Given the description of an element on the screen output the (x, y) to click on. 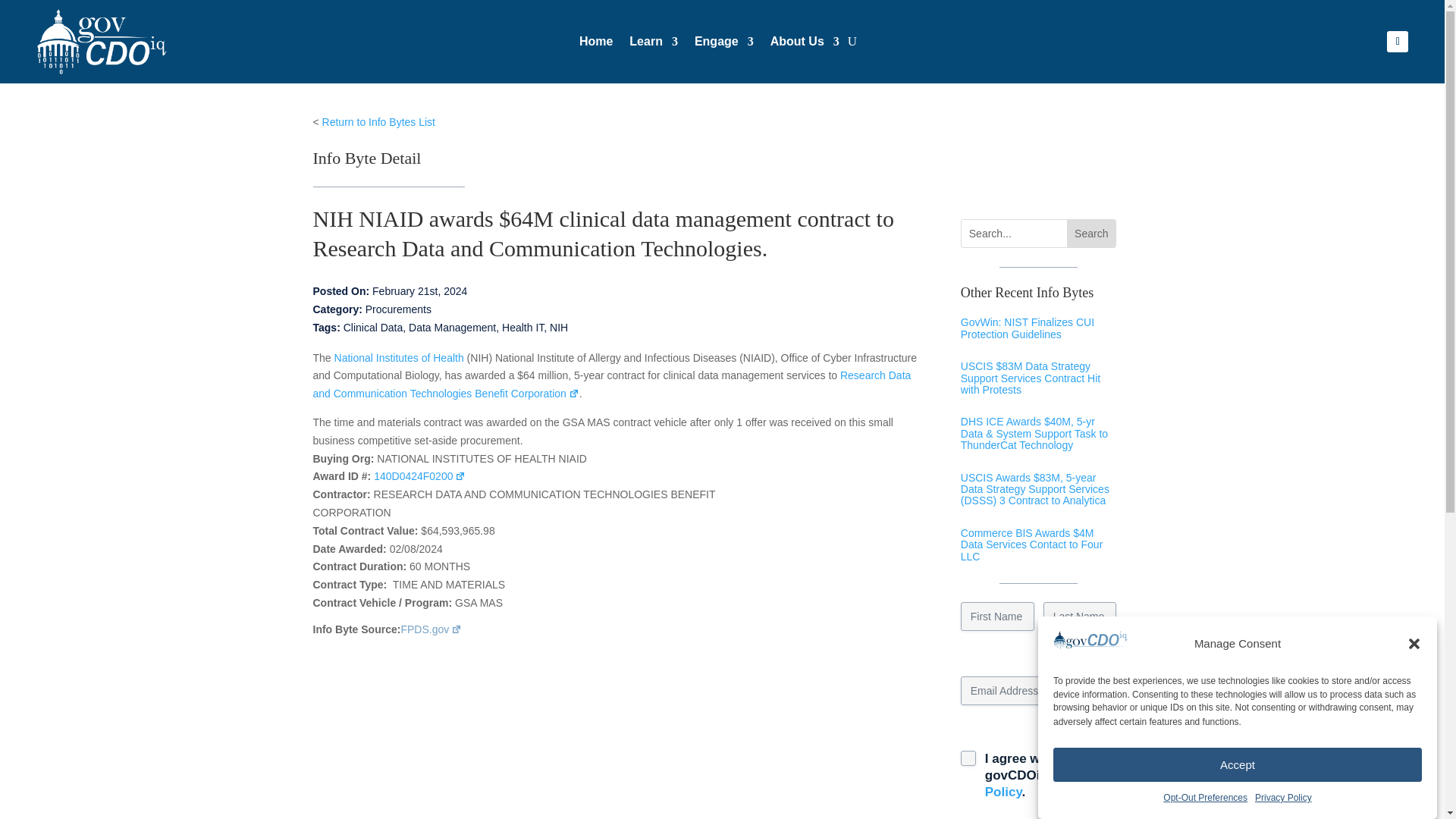
Search (1091, 233)
Search (1091, 233)
Home (595, 45)
govcdoiq-logo-long-white (146, 33)
About Us (805, 45)
Follow on LinkedIn (1397, 41)
Learn (653, 45)
Engage (724, 45)
govcdoiq-logo-condensed-white (101, 41)
